Given the description of an element on the screen output the (x, y) to click on. 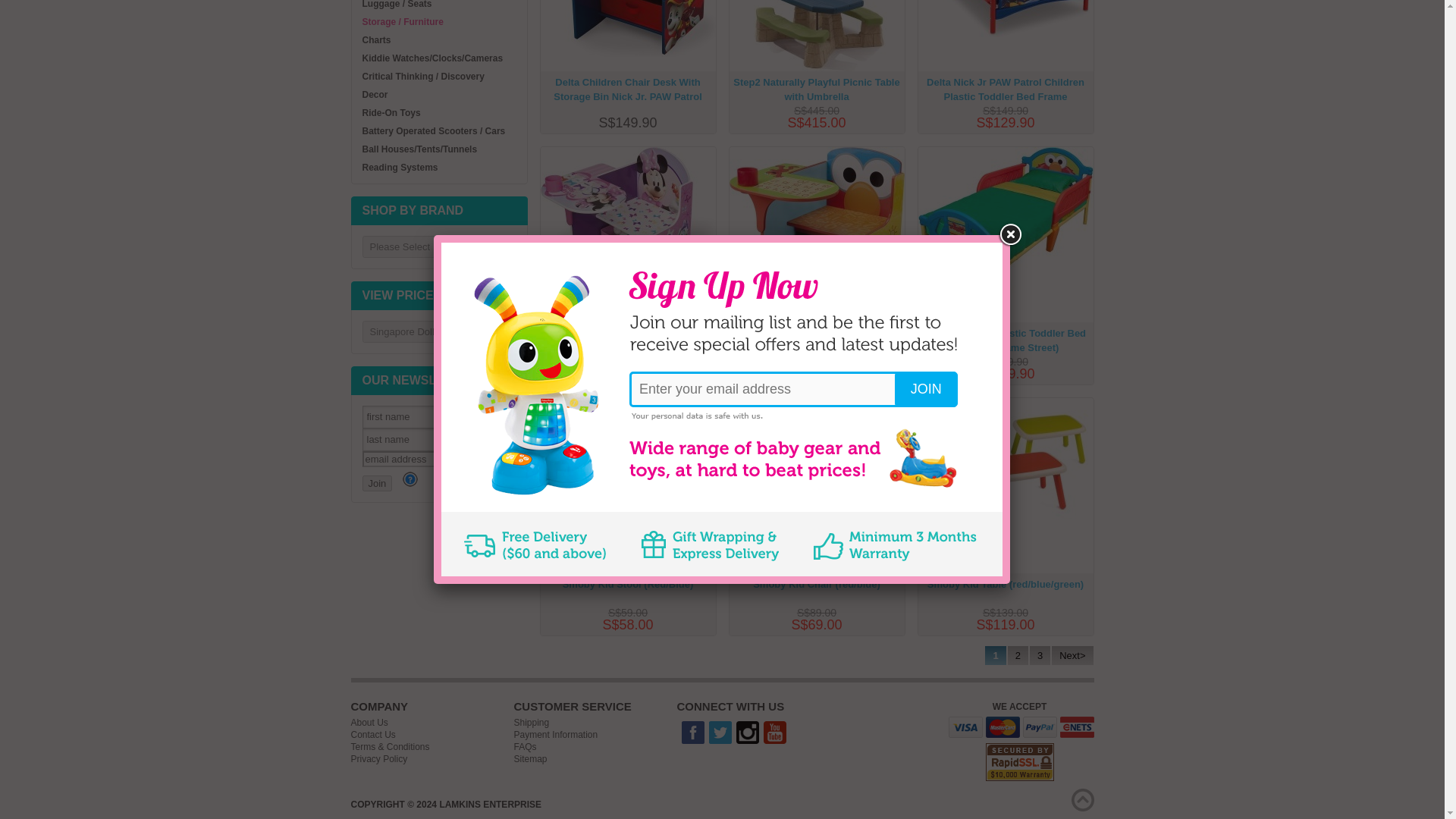
Delta Children Chair Desk With Storage Bin Sesame Street (816, 224)
Delta Nick Jr PAW Patrol Children Plastic Toddler Bed Frame (1005, 18)
Charts (376, 40)
Step2 Naturally Playful Picnic Table with Umbrella (816, 35)
Decor (375, 94)
Ride-On Toys (391, 112)
